Given the description of an element on the screen output the (x, y) to click on. 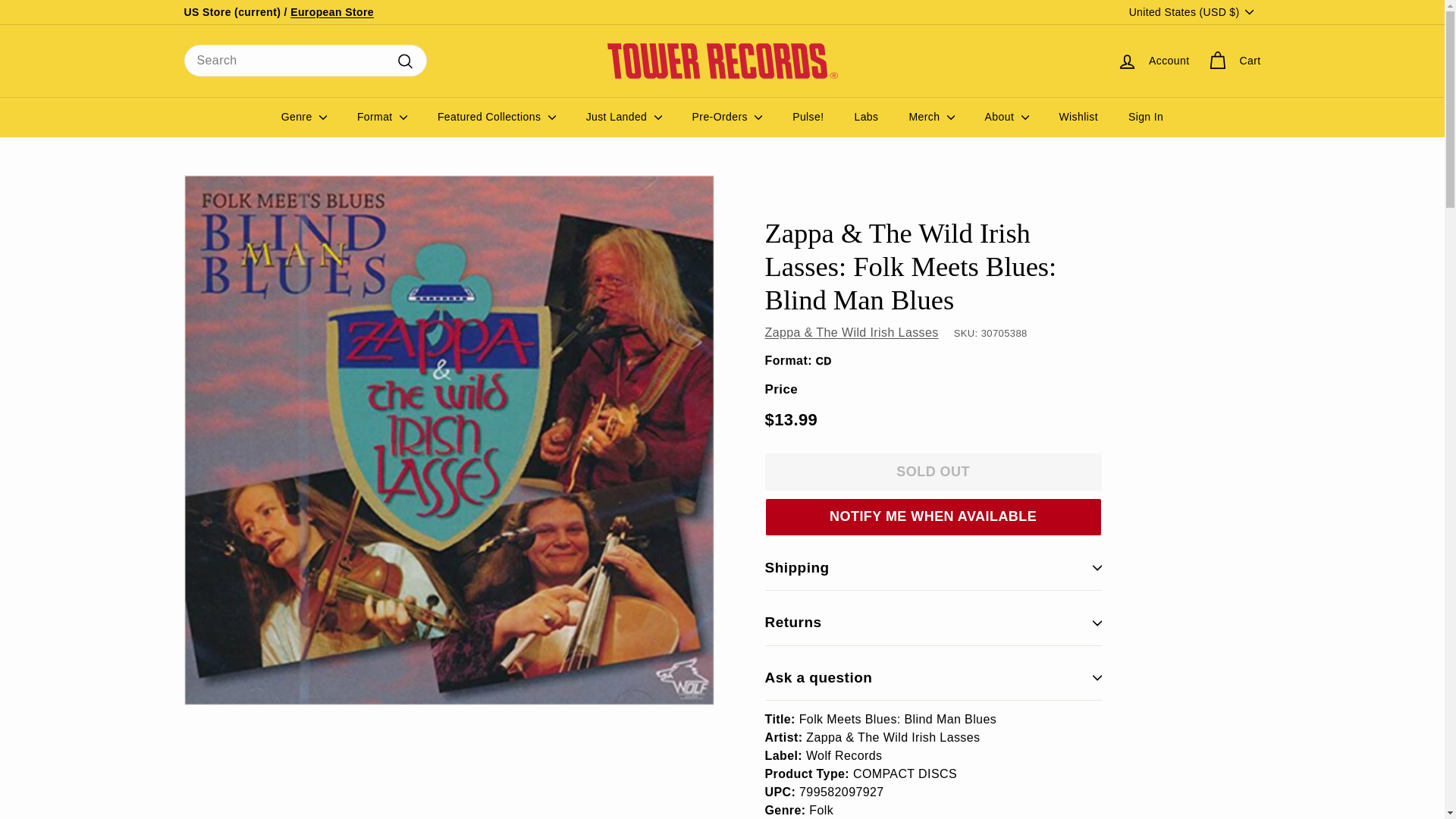
European Store (331, 11)
